Given the description of an element on the screen output the (x, y) to click on. 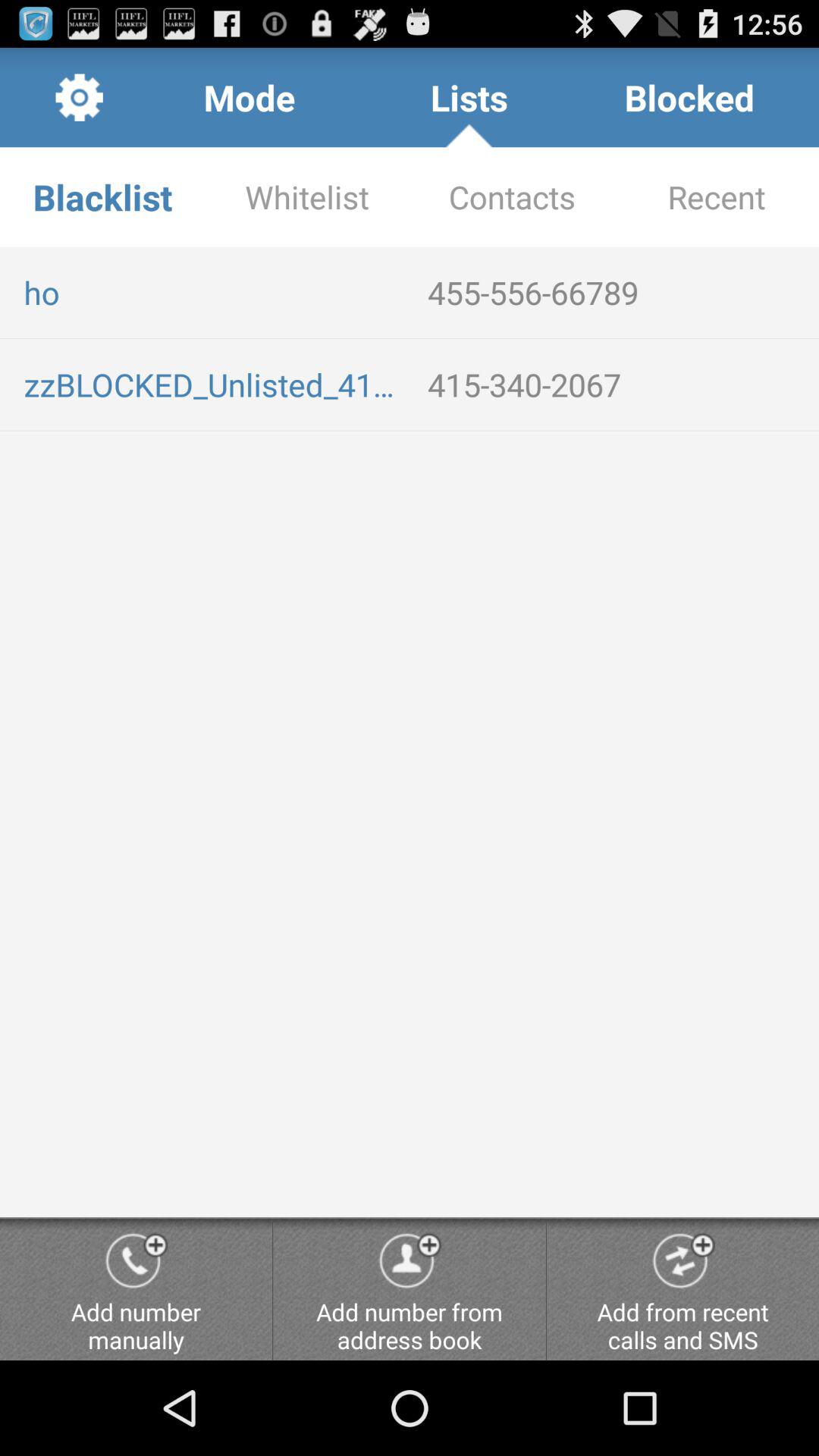
choose app to the left of lists app (249, 97)
